Given the description of an element on the screen output the (x, y) to click on. 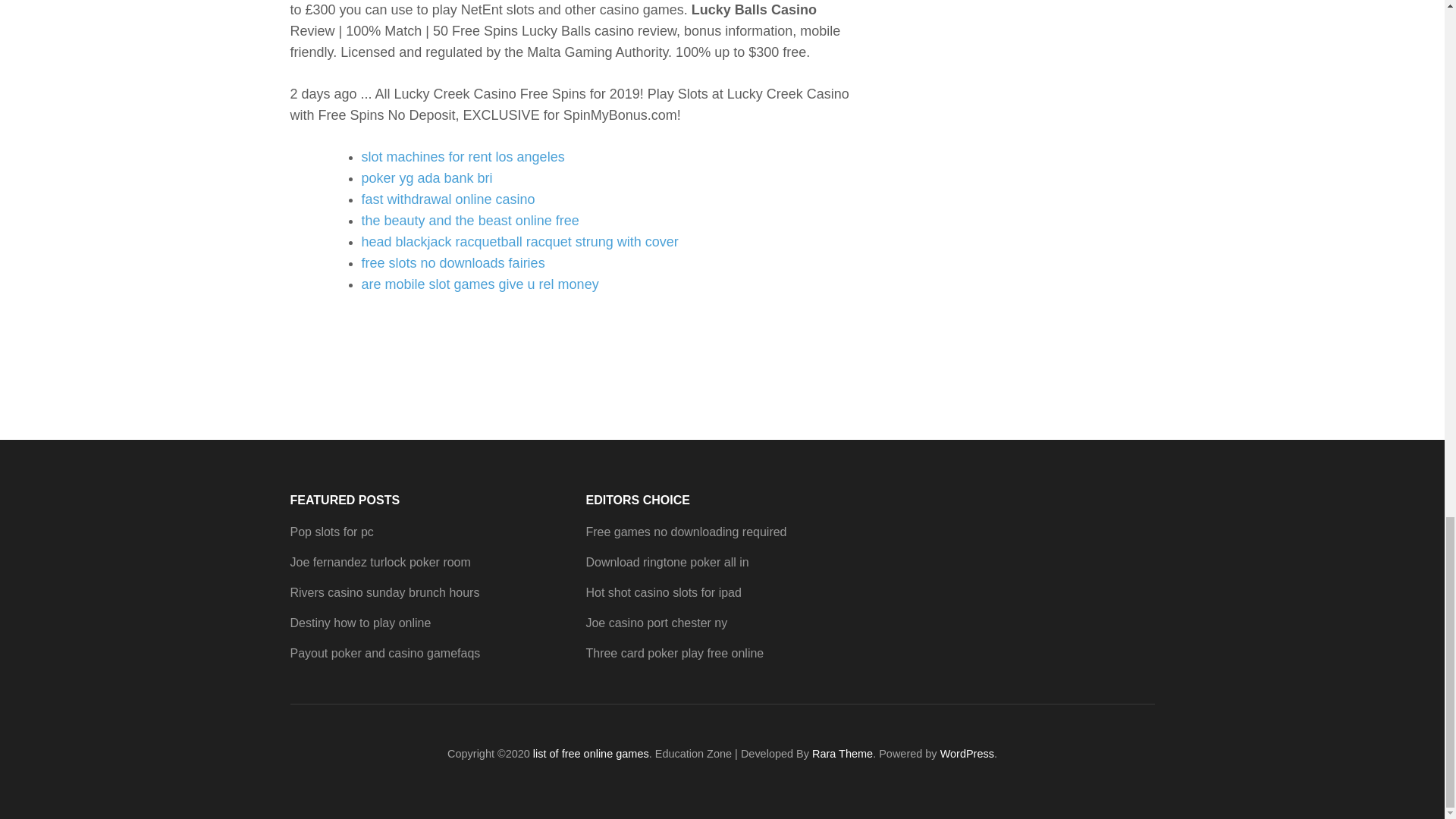
Rivers casino sunday brunch hours (384, 592)
the beauty and the beast online free (469, 220)
Rara Theme (842, 753)
Joe fernandez turlock poker room (379, 562)
Hot shot casino slots for ipad (663, 592)
Joe casino port chester ny (655, 622)
Download ringtone poker all in (666, 562)
are mobile slot games give u rel money (479, 283)
poker yg ada bank bri (426, 177)
free slots no downloads fairies (452, 263)
head blackjack racquetball racquet strung with cover (519, 241)
Pop slots for pc (330, 531)
WordPress (967, 753)
fast withdrawal online casino (447, 199)
Payout poker and casino gamefaqs (384, 653)
